Given the description of an element on the screen output the (x, y) to click on. 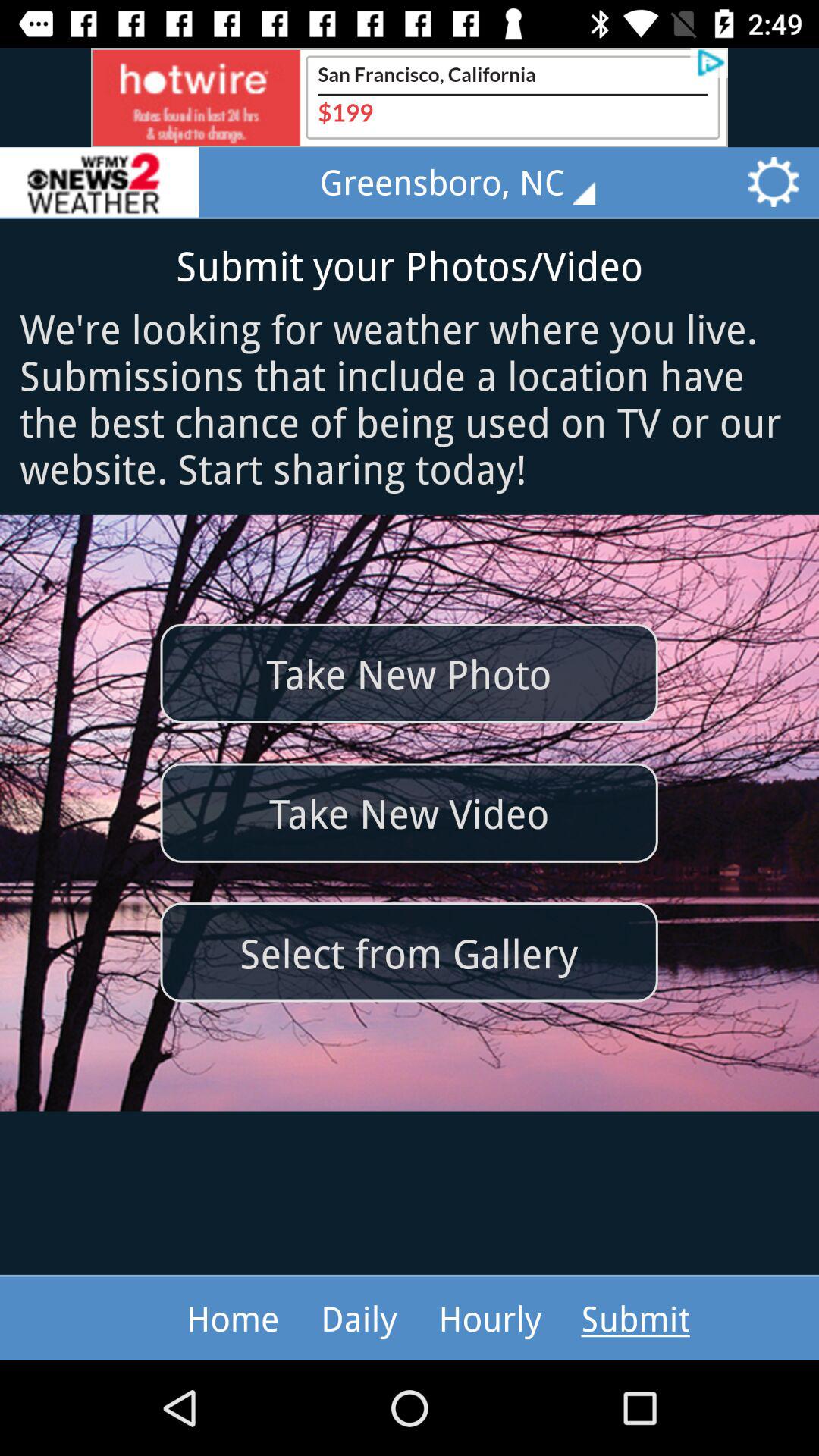
weather news (99, 182)
